Given the description of an element on the screen output the (x, y) to click on. 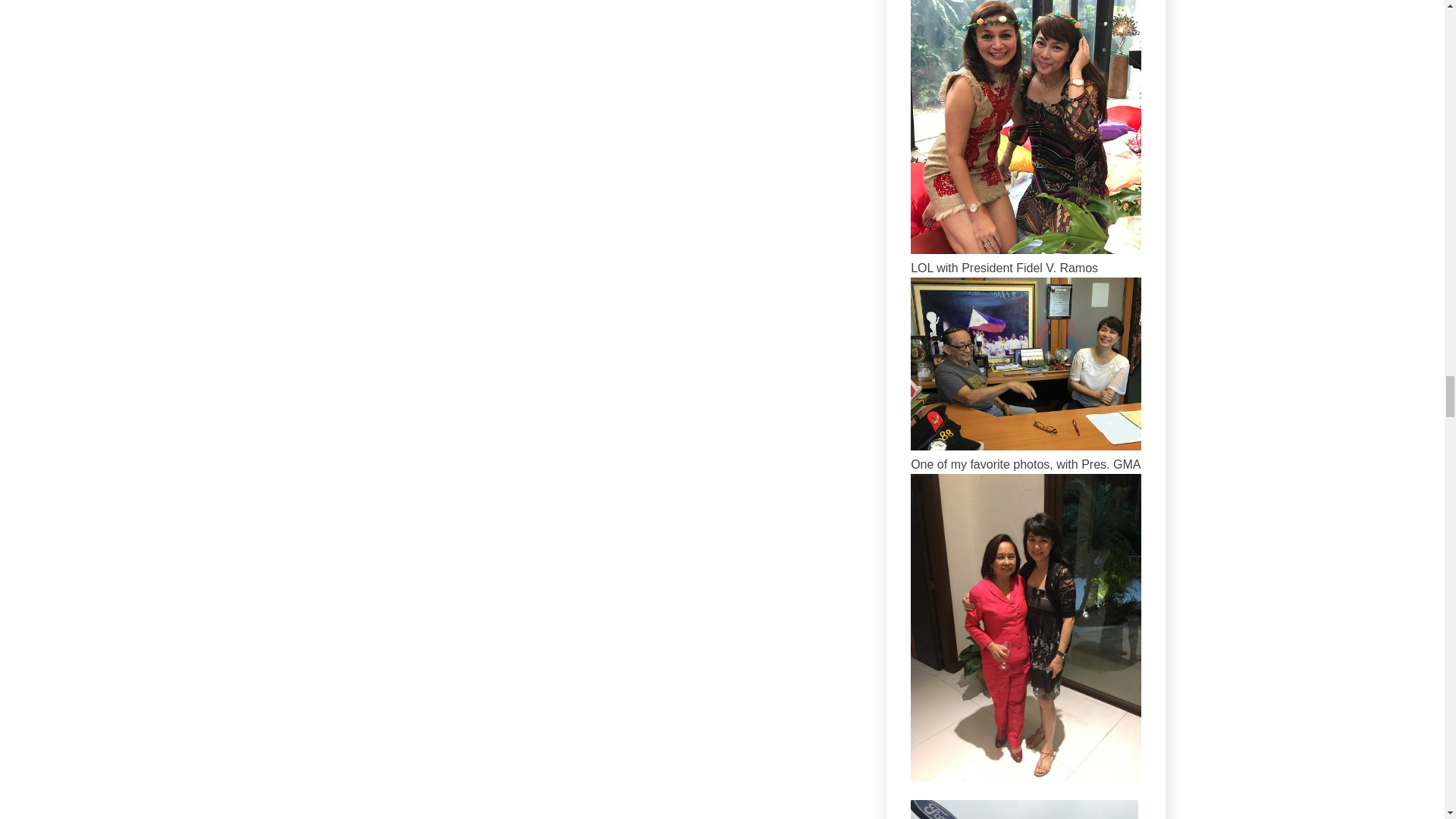
Annie C. Tan-Yee , Mylene Abiva (1026, 249)
